Given the description of an element on the screen output the (x, y) to click on. 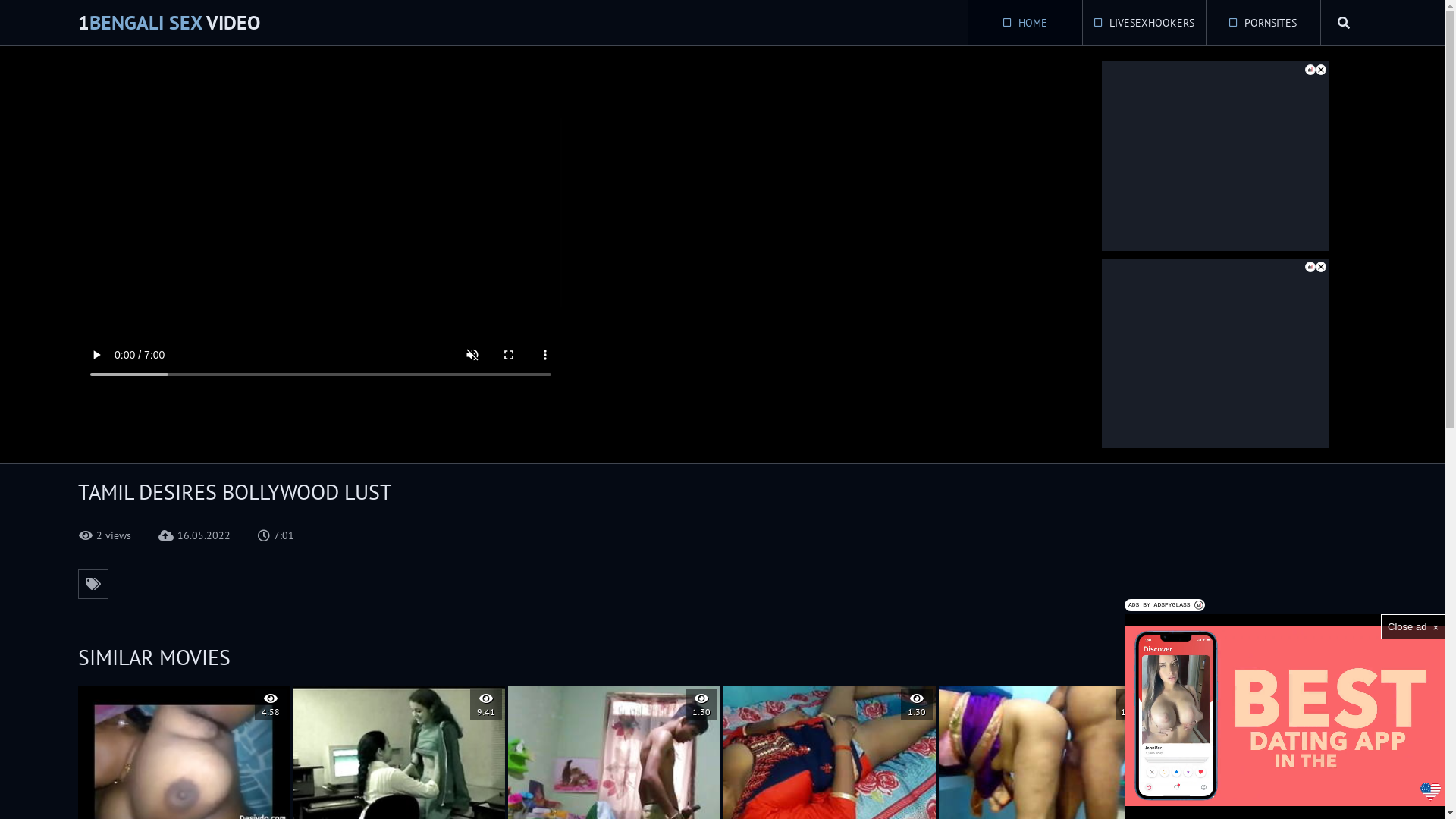
1BENGALI SEX VIDEO Element type: text (168, 22)
HOME Element type: text (1024, 22)
LIVESEXHOOKERS Element type: text (1143, 22)
ADS BY ADSPYGLASS Element type: text (1164, 605)
PORNSITES Element type: text (1262, 22)
